Given the description of an element on the screen output the (x, y) to click on. 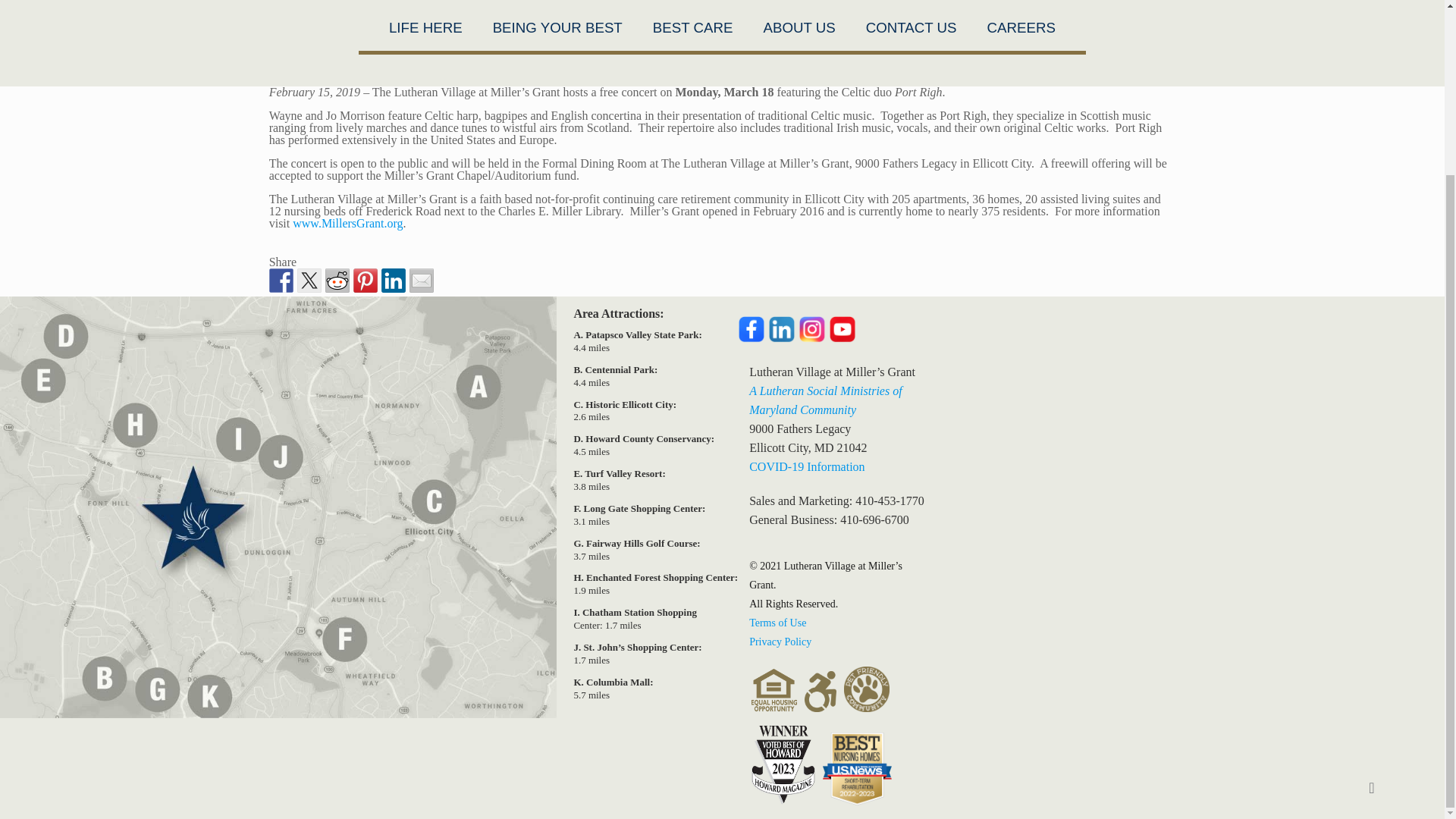
Share by email (421, 280)
BEING YOUR BEST (557, 27)
Share on Linkedin (393, 280)
CONTACT US (911, 27)
Lutheran Village at Miller's Grant (722, 2)
Share on Facebook (281, 280)
Share on Twitter (309, 280)
Pin it with Pinterest (365, 280)
BEST CARE (692, 27)
CAREERS (1021, 27)
LIFE HERE (425, 27)
Share on Reddit (336, 280)
ABOUT US (799, 27)
